Given the description of an element on the screen output the (x, y) to click on. 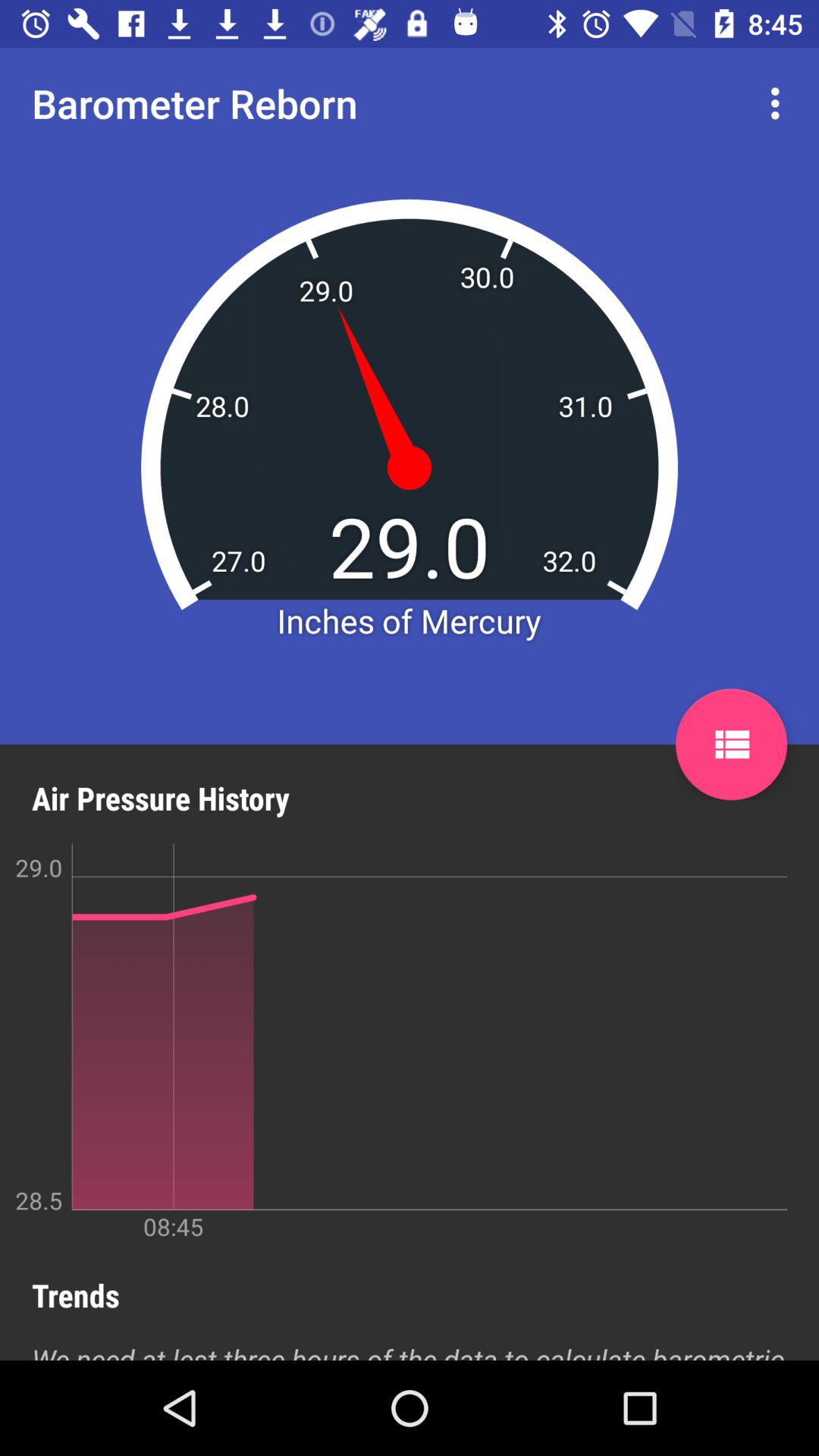
choose item next to air pressure history item (731, 744)
